Given the description of an element on the screen output the (x, y) to click on. 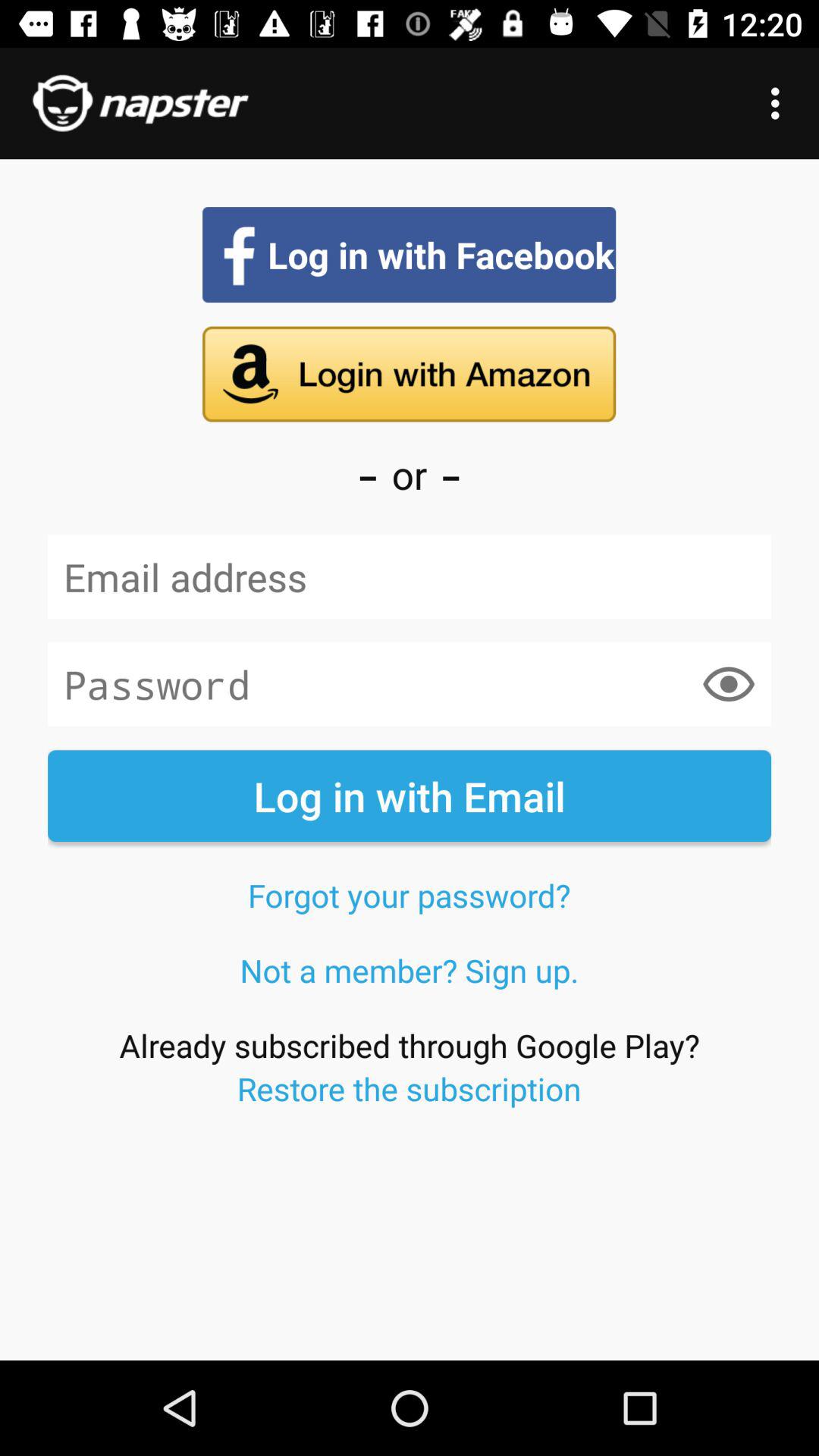
launch the icon above not a member (408, 894)
